Given the description of an element on the screen output the (x, y) to click on. 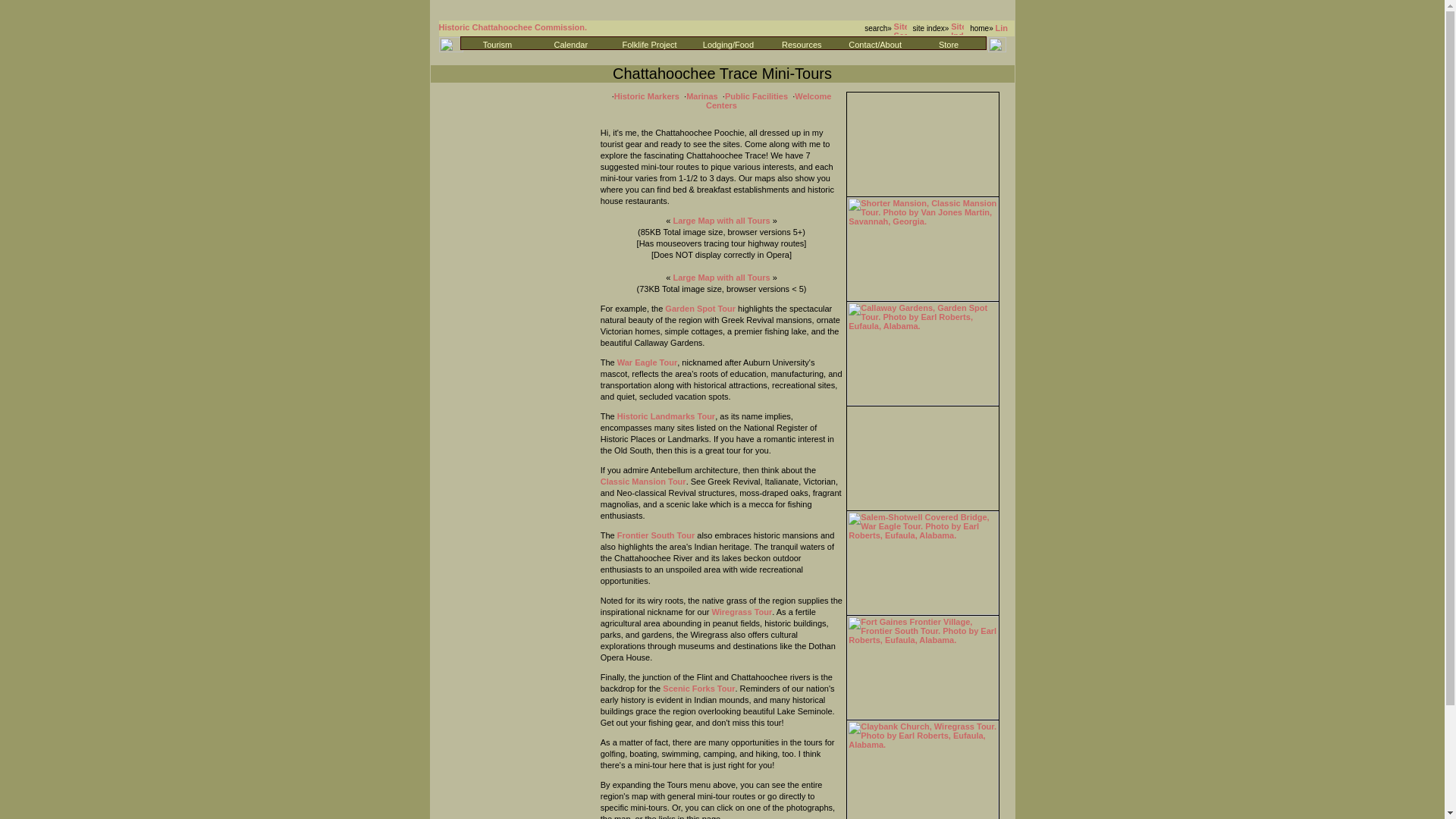
Large Map with all Tours (721, 276)
Store (948, 44)
Resources (801, 44)
Frontier South Tour (655, 534)
Home page link. (1000, 30)
Public Facilities (756, 95)
Historic Landmarks Tour (665, 415)
Marinas (701, 95)
Classic Mansion Tour (642, 481)
Large Map with all Tours (721, 220)
Tourism (497, 44)
Garden Spot Tour (700, 307)
Layout Table. (722, 32)
Historic Markers (646, 95)
Wiregrass Tour (741, 611)
